Given the description of an element on the screen output the (x, y) to click on. 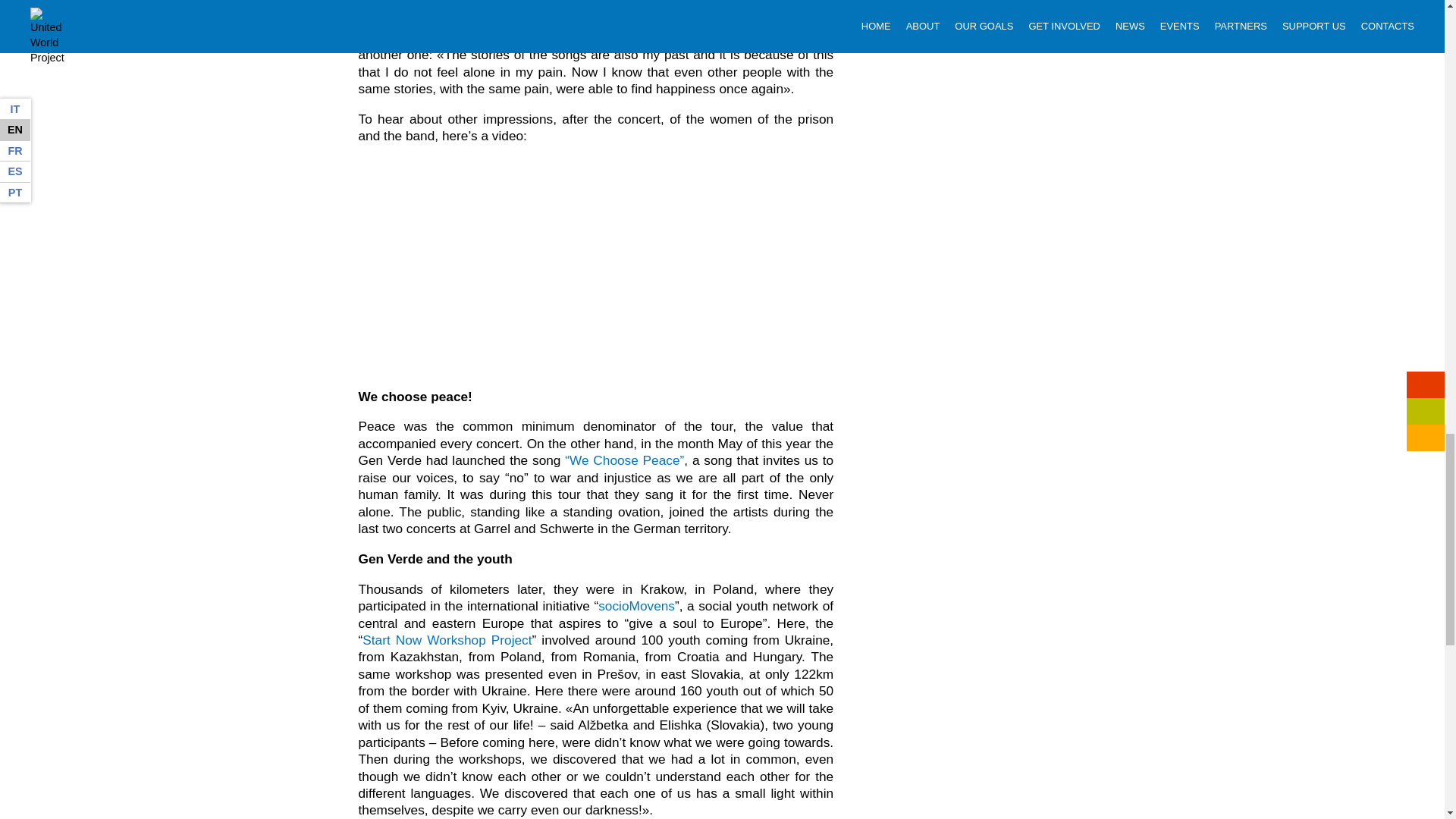
Start Now Workshop Project (446, 639)
socioMovens (636, 605)
